Given the description of an element on the screen output the (x, y) to click on. 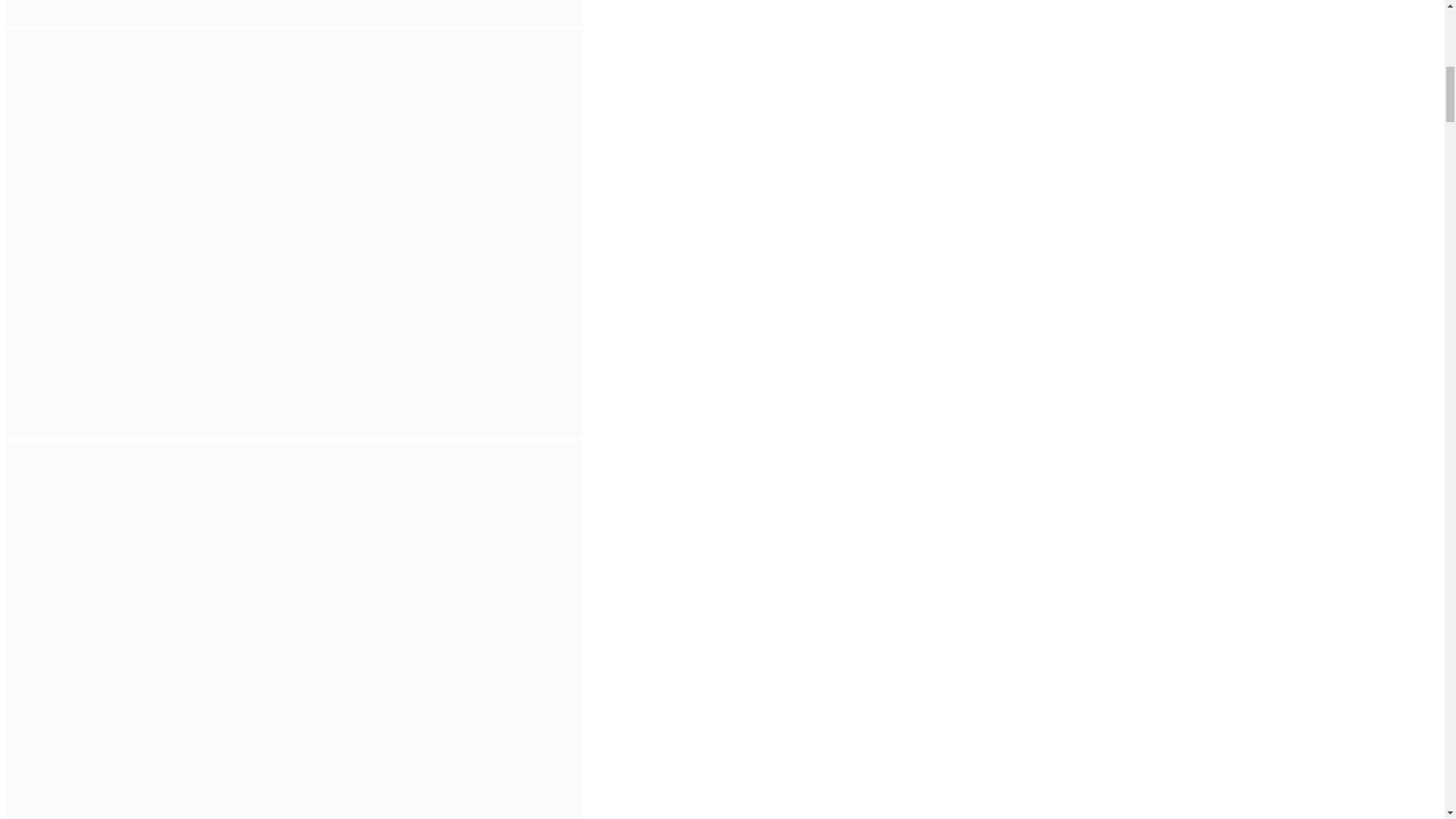
A man in a suit holding a UN folder - UNSPLASH (293, 12)
